Given the description of an element on the screen output the (x, y) to click on. 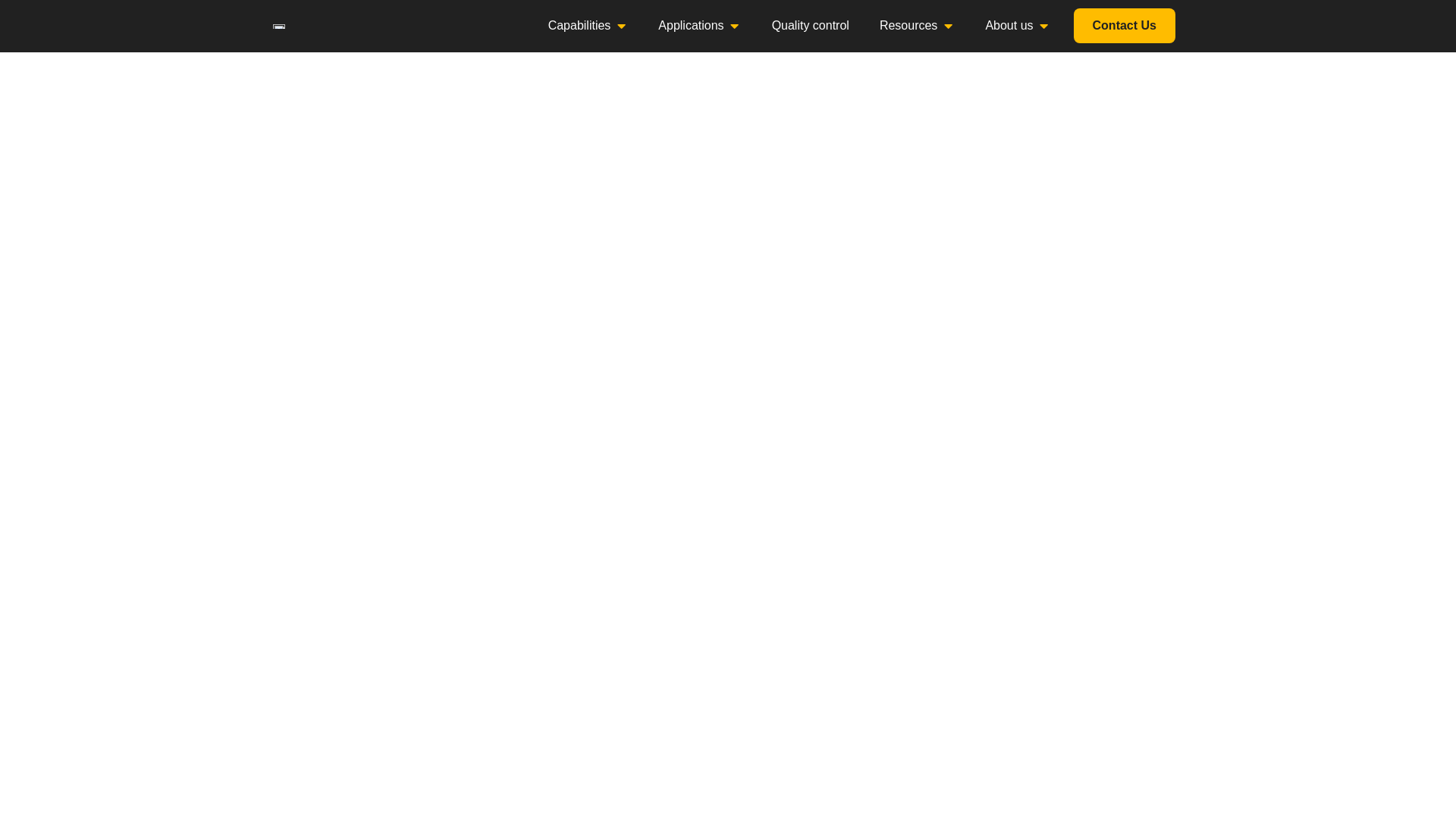
Quality control (809, 25)
Applications (690, 25)
Contact Us (1124, 25)
About us (1008, 25)
Resources (908, 25)
Capabilities (579, 25)
